Given the description of an element on the screen output the (x, y) to click on. 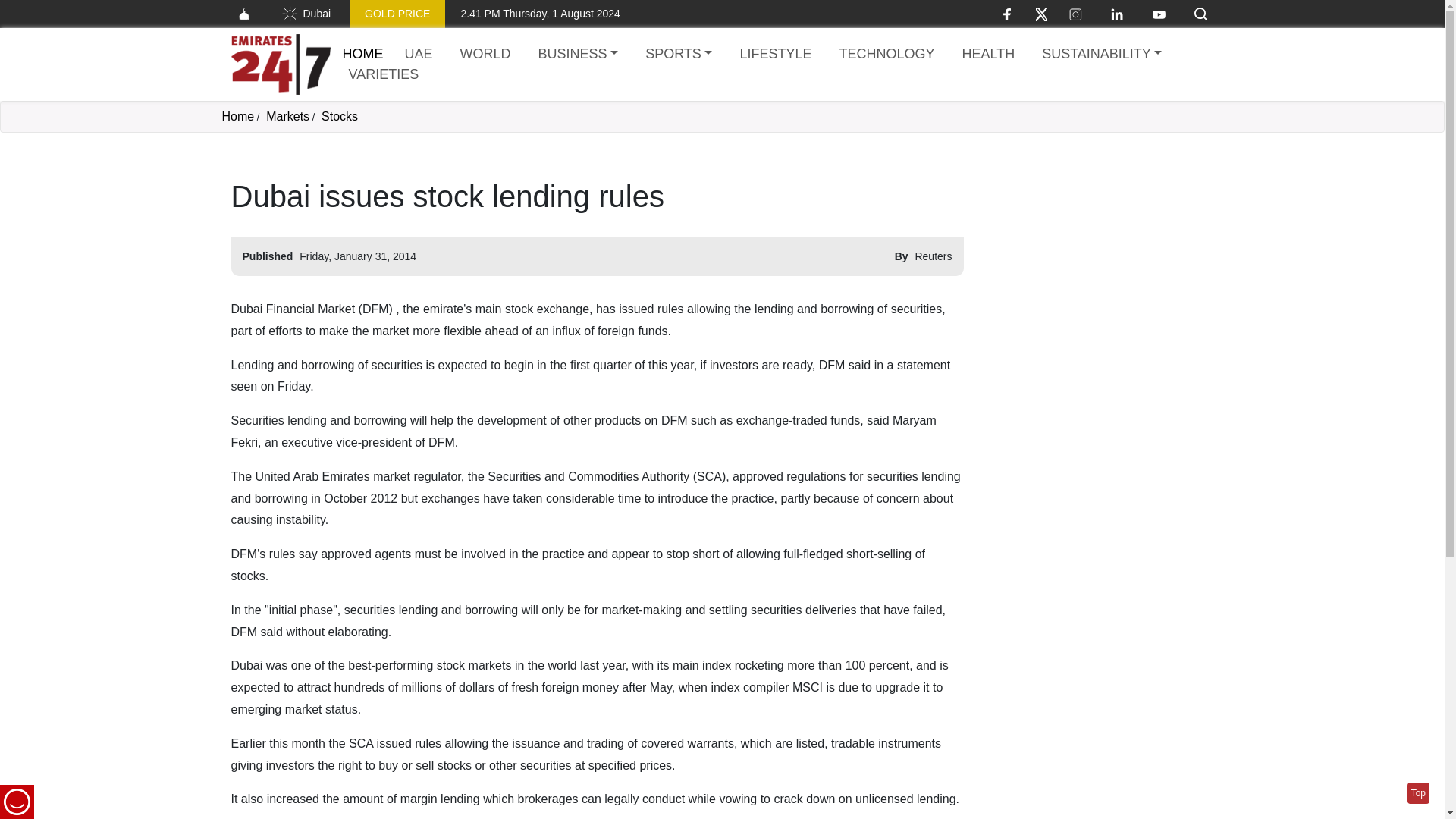
HEALTH (987, 54)
Go to top (1418, 792)
Home (363, 53)
Home (237, 115)
TECHNOLOGY (886, 54)
UAE (271, 13)
GOLD PRICE (418, 54)
Stocks (449, 13)
WORLD (339, 115)
Home (485, 54)
Markets (280, 64)
Dubai (287, 115)
LIFESTYLE (358, 13)
HOME (774, 54)
